Given the description of an element on the screen output the (x, y) to click on. 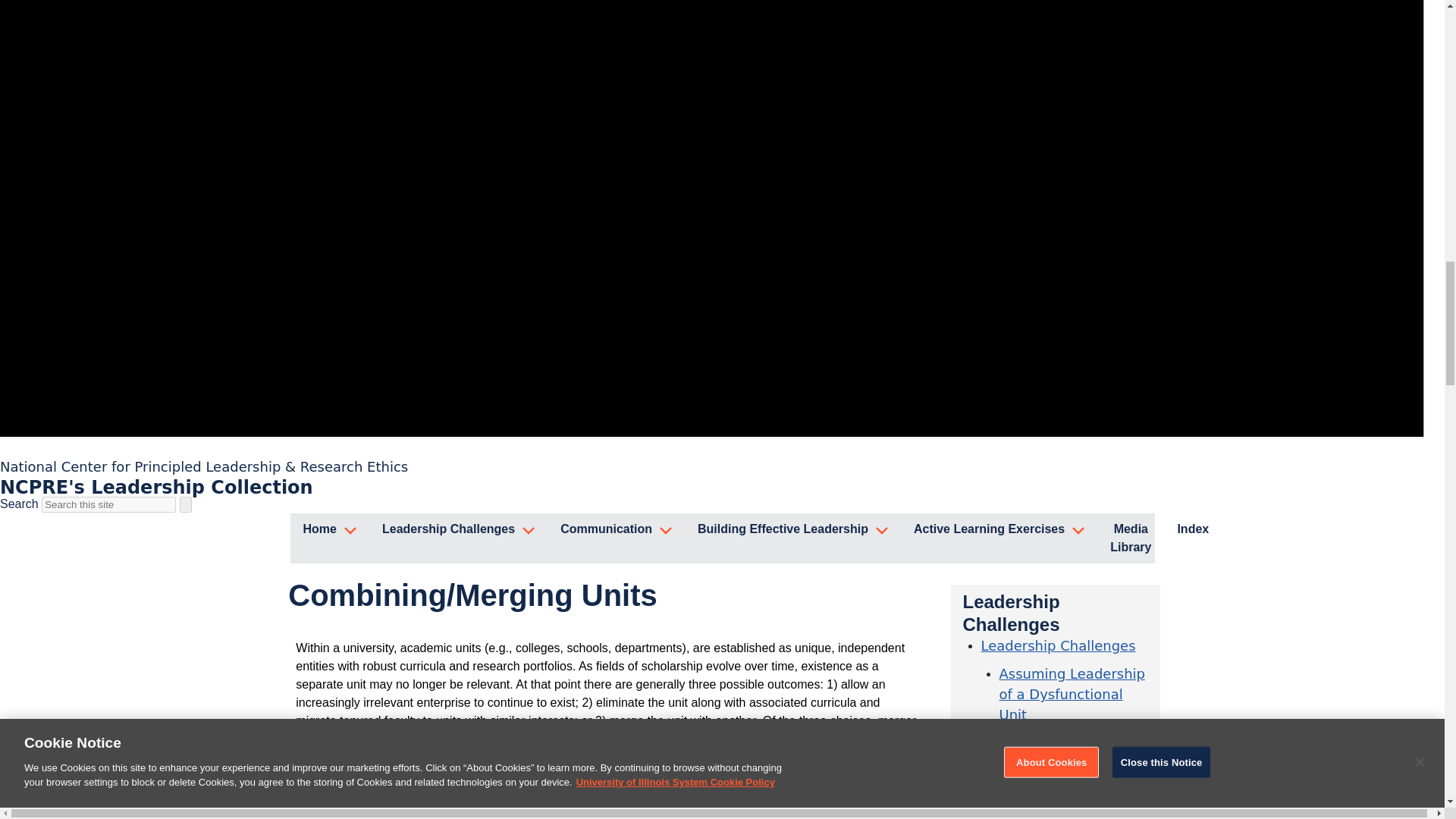
NCPRE's Leadership Collection (156, 486)
Leadership Challenges (458, 530)
Home (328, 530)
Communication (615, 530)
